Given the description of an element on the screen output the (x, y) to click on. 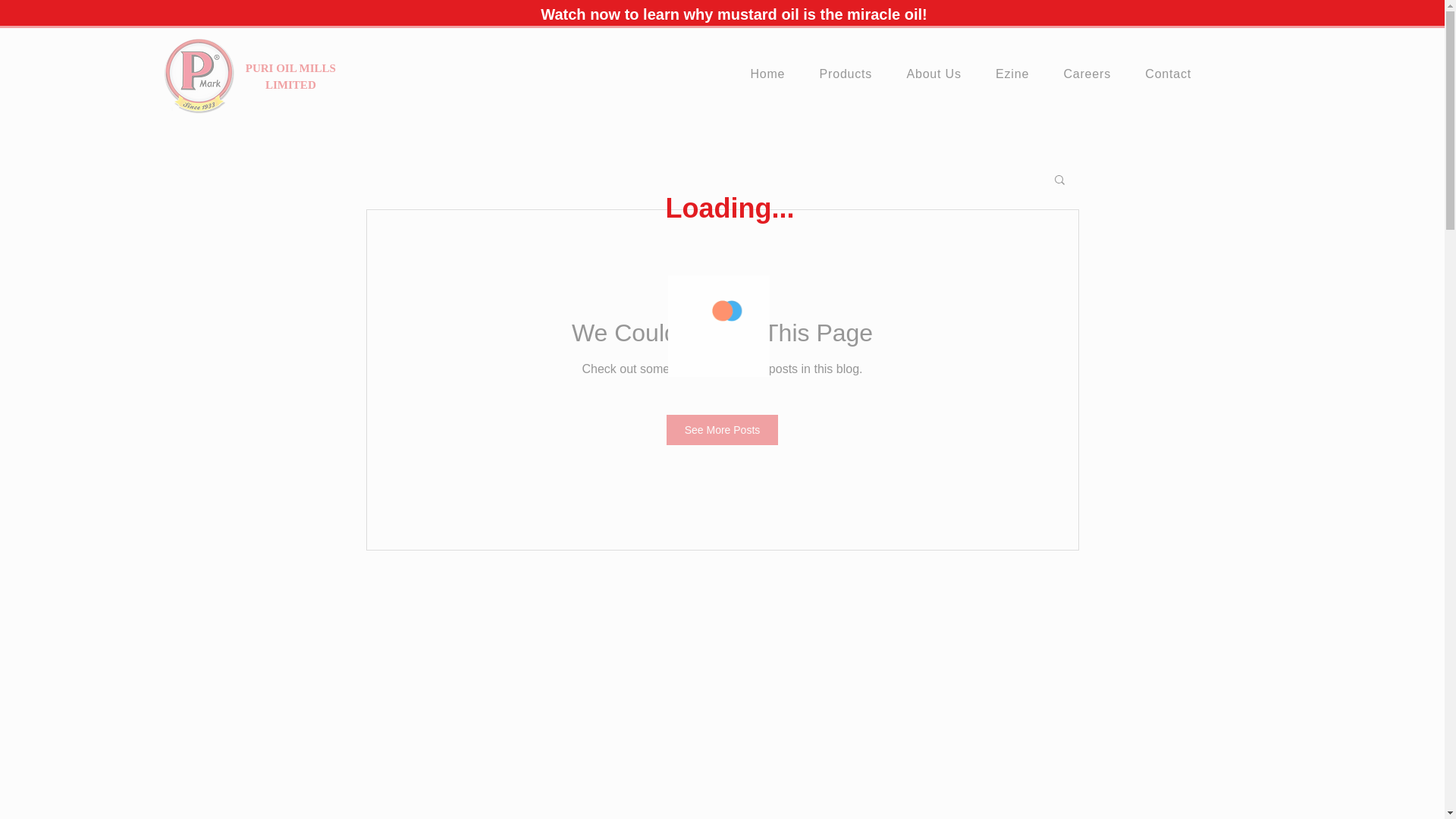
Careers (1092, 73)
Home (773, 73)
See More Posts (722, 429)
PURI OIL MILLS LIMITED (291, 75)
Contact (1174, 73)
Watch now to learn why mustard oil is the miracle oil! (733, 13)
